Given the description of an element on the screen output the (x, y) to click on. 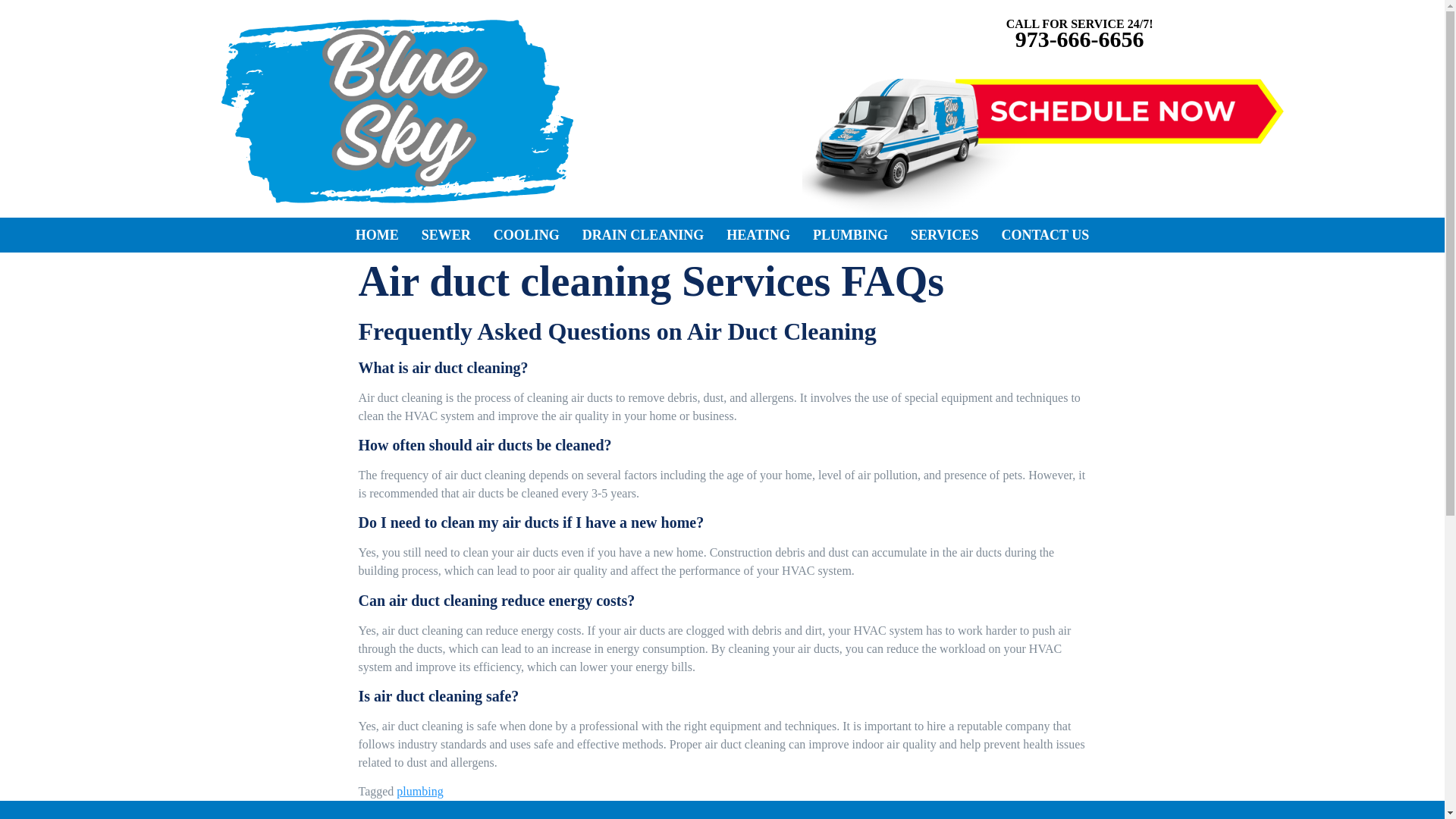
HEATING (758, 234)
HOME (376, 234)
SEWER (445, 234)
PLUMBING (850, 234)
DRAIN CLEANING (643, 234)
CONTACT US (1045, 234)
SERVICES (944, 234)
COOLING (525, 234)
